Given the description of an element on the screen output the (x, y) to click on. 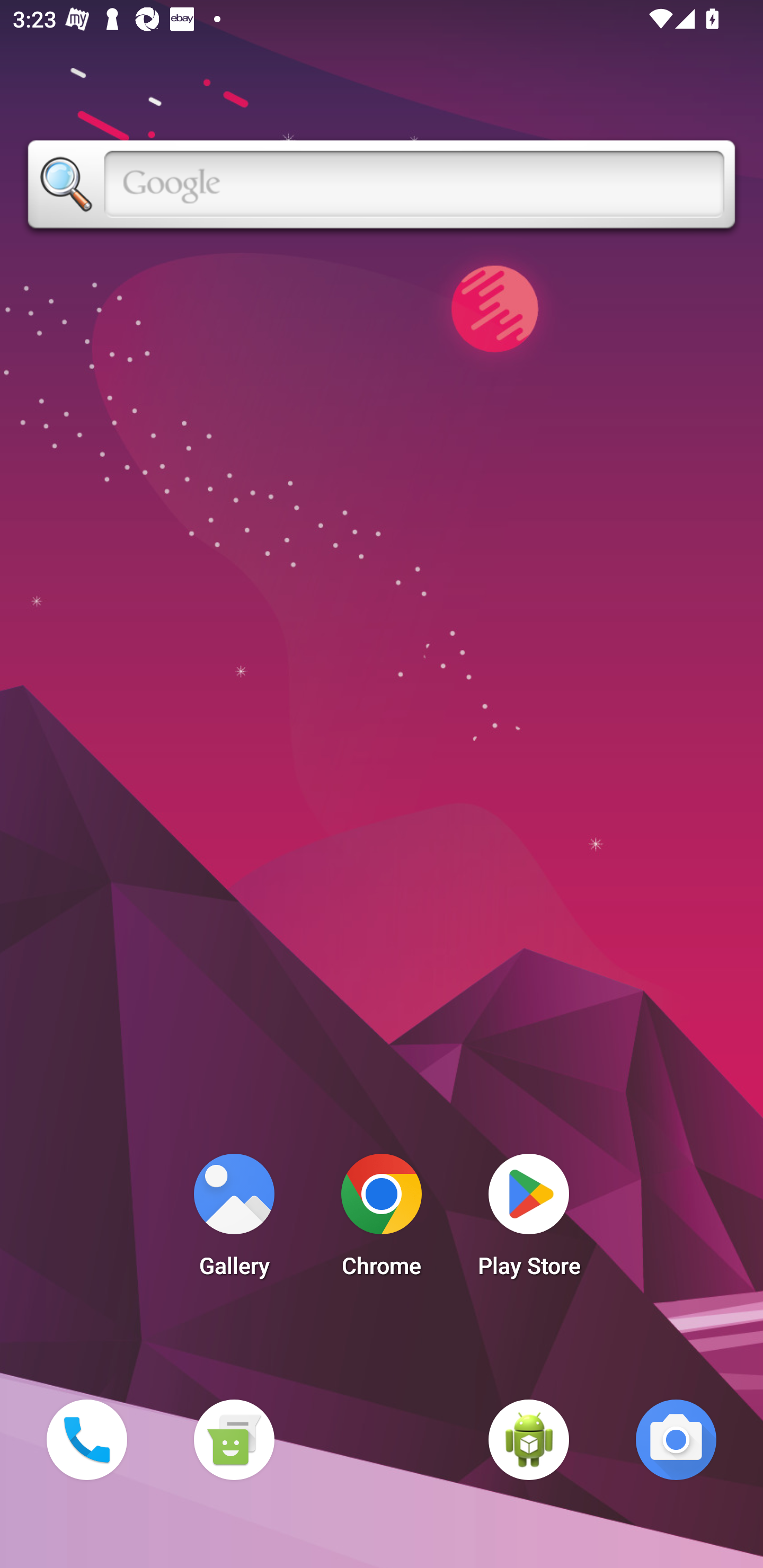
Gallery (233, 1220)
Chrome (381, 1220)
Play Store (528, 1220)
Phone (86, 1439)
Messaging (233, 1439)
WebView Browser Tester (528, 1439)
Camera (676, 1439)
